Given the description of an element on the screen output the (x, y) to click on. 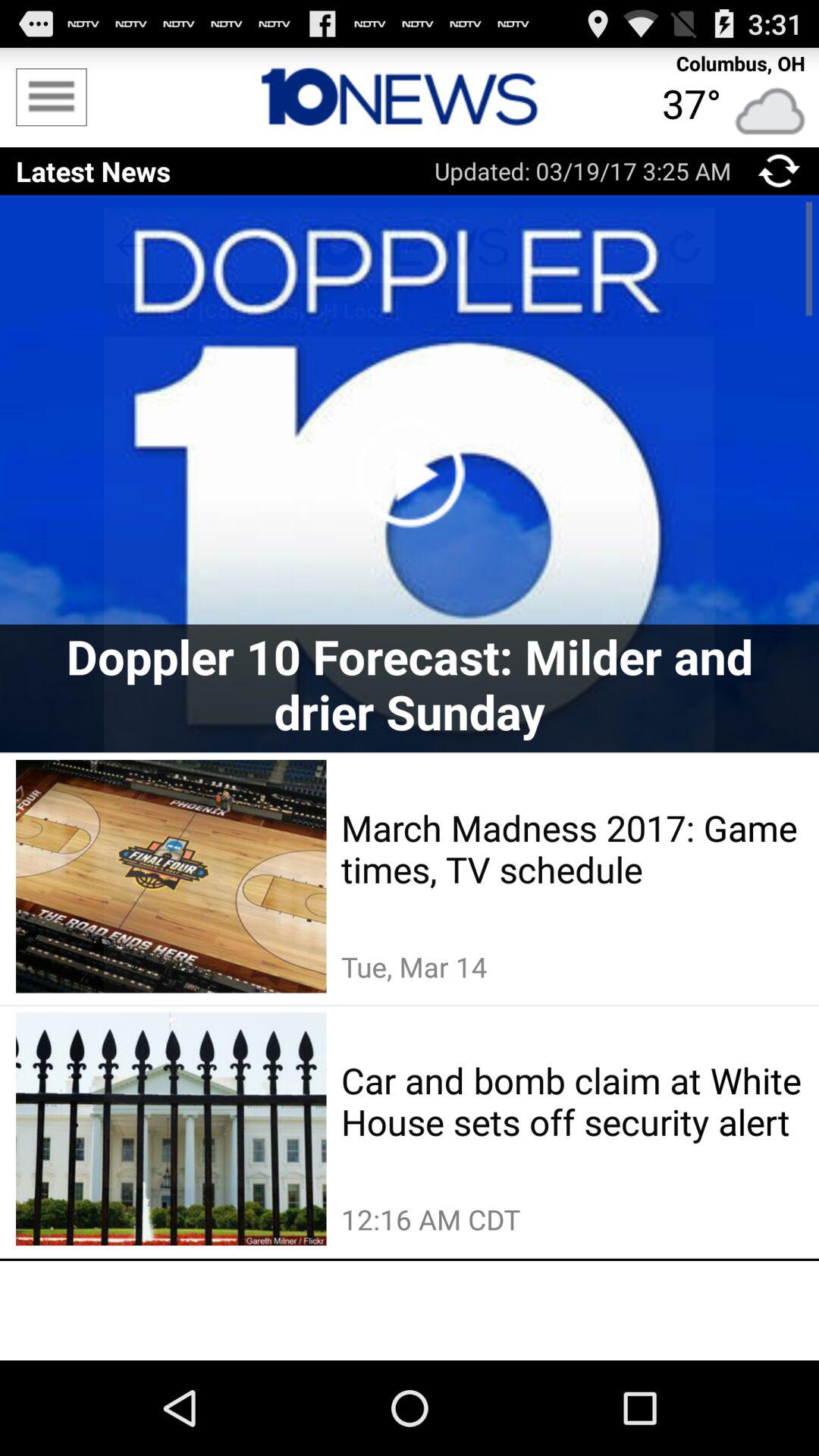
launch the app below the march madness 2017 (572, 967)
